Given the description of an element on the screen output the (x, y) to click on. 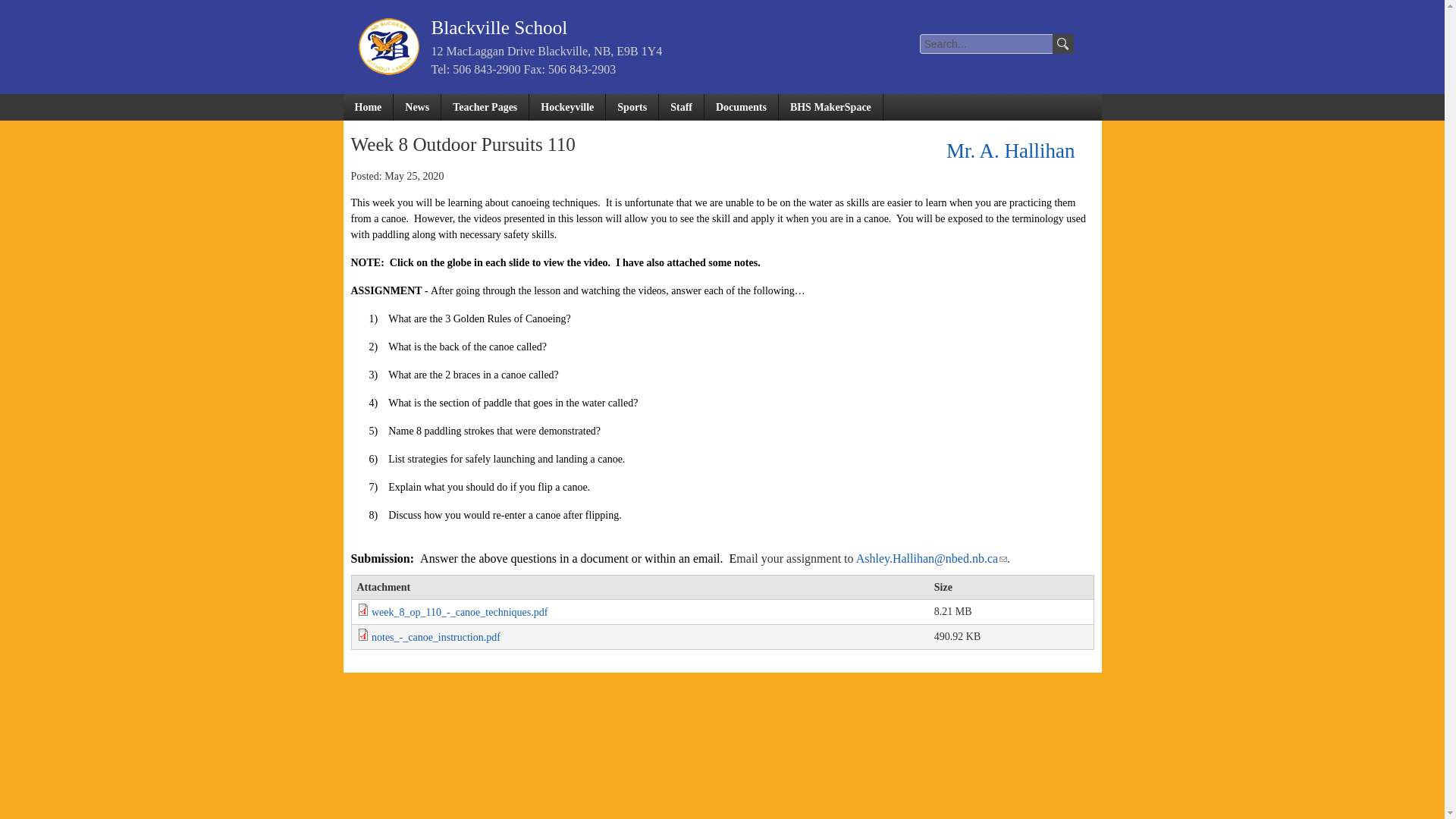
Sports (632, 107)
Home (367, 107)
Blackville School (498, 27)
Home page (498, 27)
Teacher Pages (485, 107)
News (417, 107)
Documents (741, 107)
Staff (681, 107)
Hockeyville (567, 107)
